Given the description of an element on the screen output the (x, y) to click on. 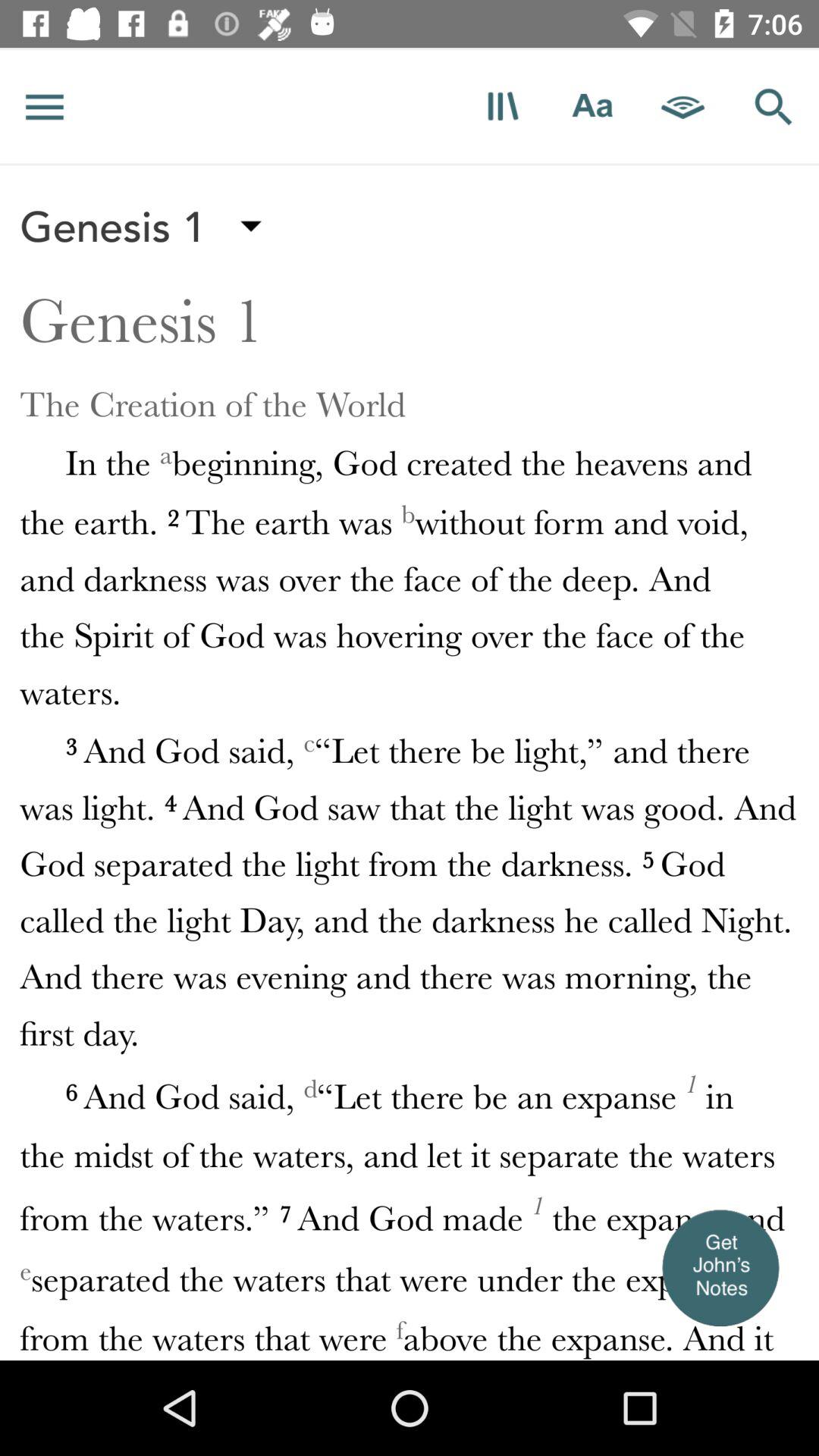
aa (592, 106)
